Given the description of an element on the screen output the (x, y) to click on. 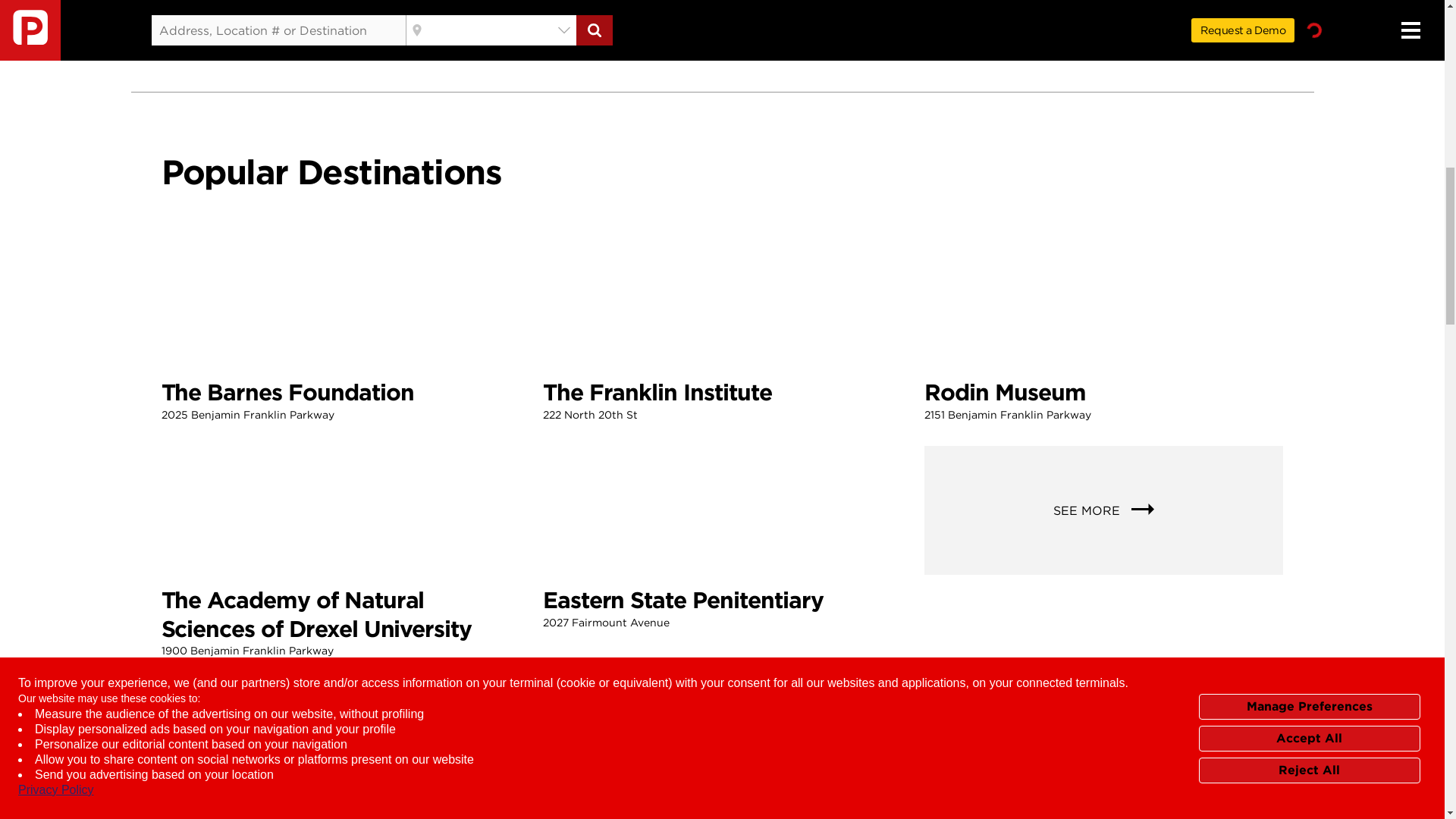
monthly parking (1103, 330)
SEE MORE (339, 330)
